Given the description of an element on the screen output the (x, y) to click on. 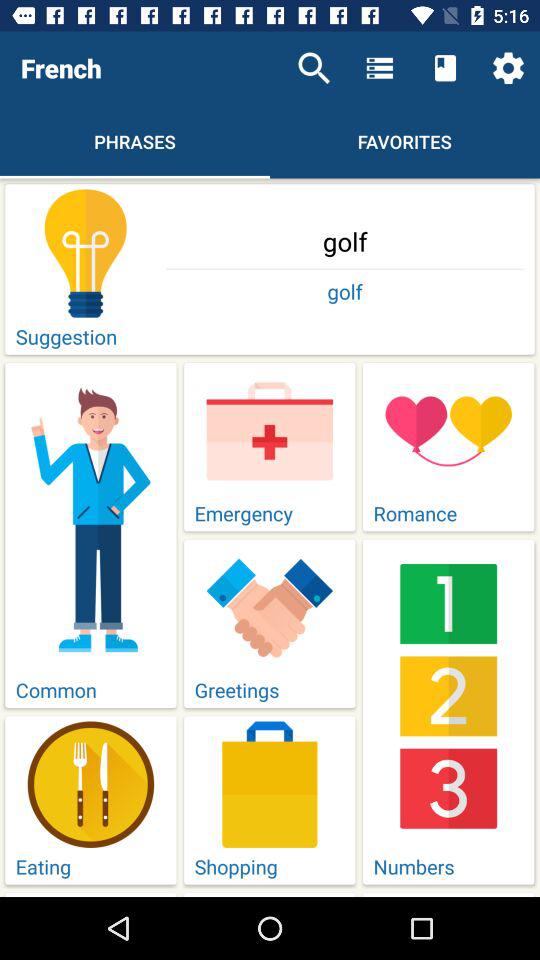
choose button  next to menu (445, 68)
select the image above eating (90, 784)
click on the settings icon (508, 68)
